Given the description of an element on the screen output the (x, y) to click on. 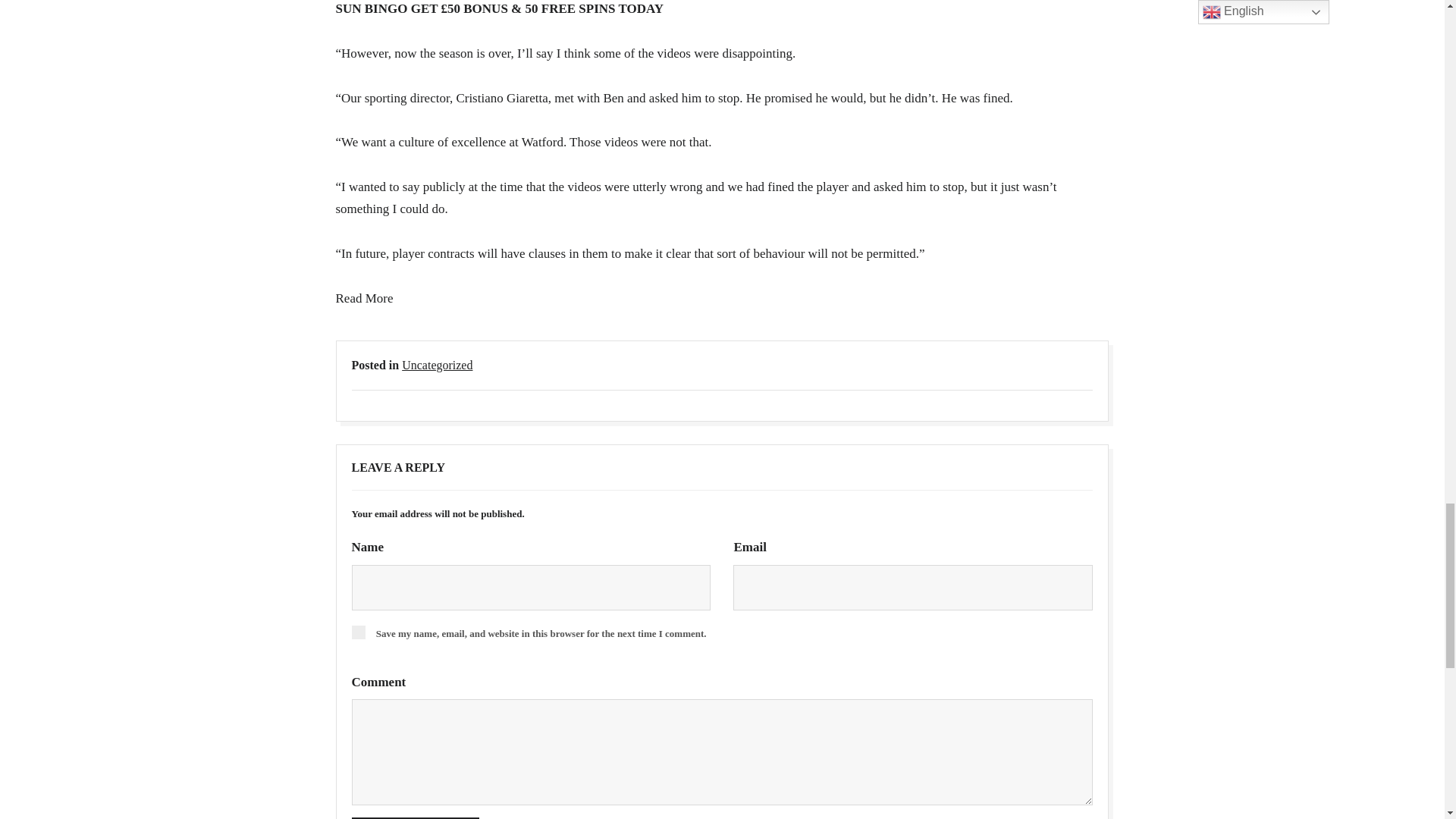
yes (358, 632)
